Given the description of an element on the screen output the (x, y) to click on. 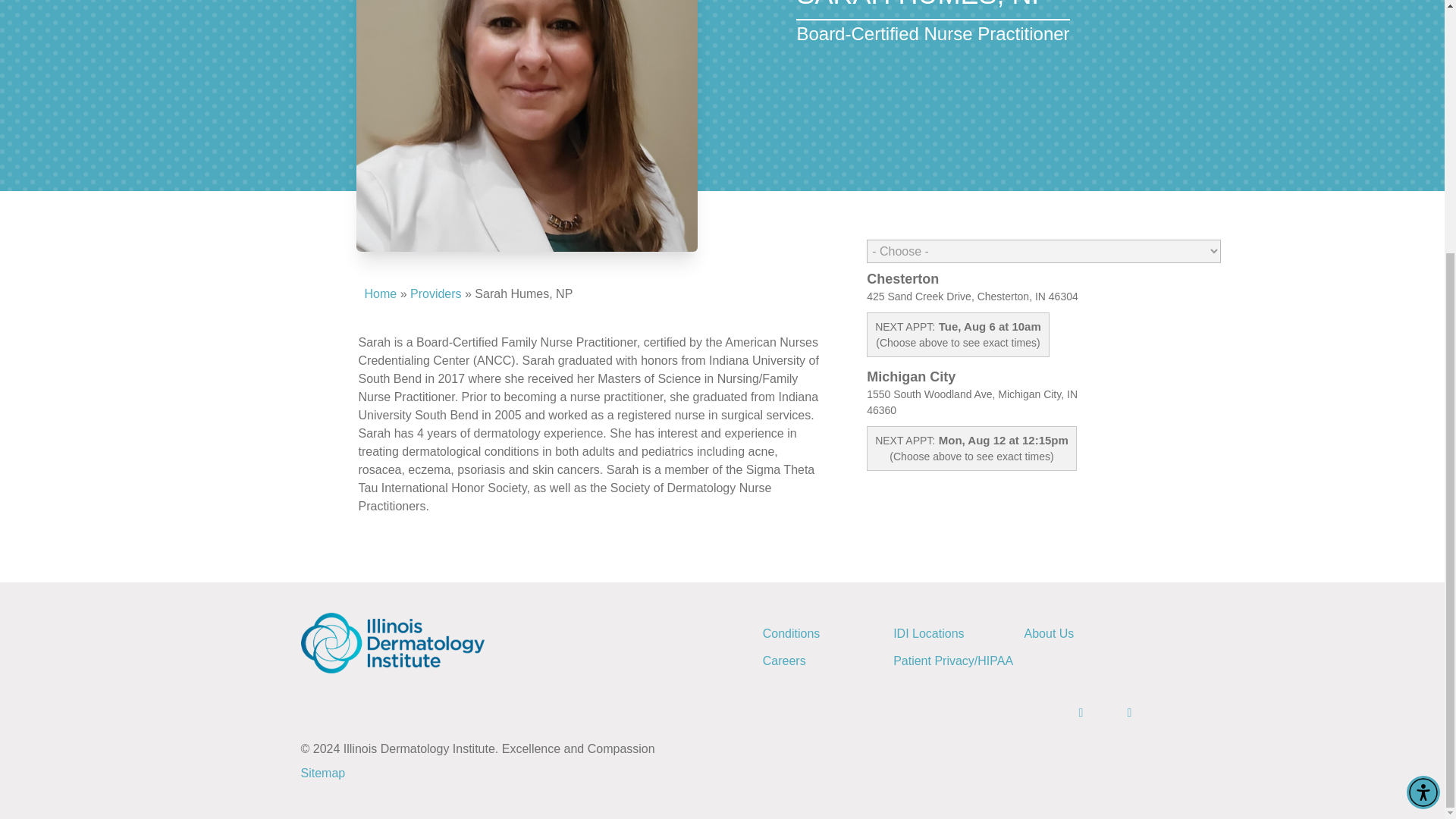
Instagram (1115, 712)
Facebook (1067, 712)
Accessibility Menu (1422, 434)
